Given the description of an element on the screen output the (x, y) to click on. 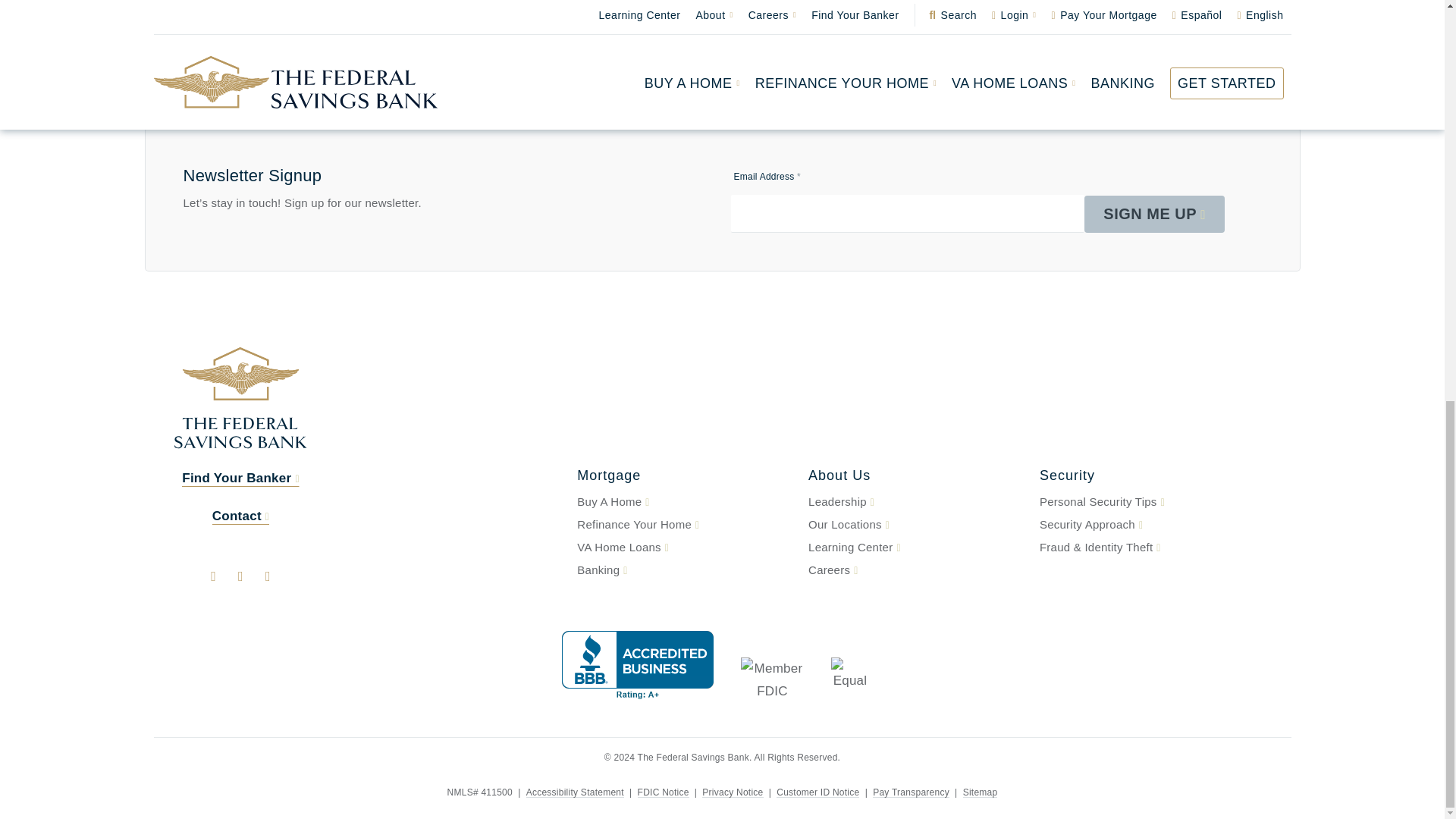
FDIC Notice (662, 792)
Buy A Home (683, 501)
Personal Security Tips (1145, 501)
Our Locations (915, 524)
Careers (915, 570)
Refinance Your Home (683, 524)
Learning Center (915, 547)
VA Home Loans (683, 547)
Security Approach (1145, 524)
Banking (683, 570)
Accessibility Statement (574, 792)
Leadership (915, 501)
